Given the description of an element on the screen output the (x, y) to click on. 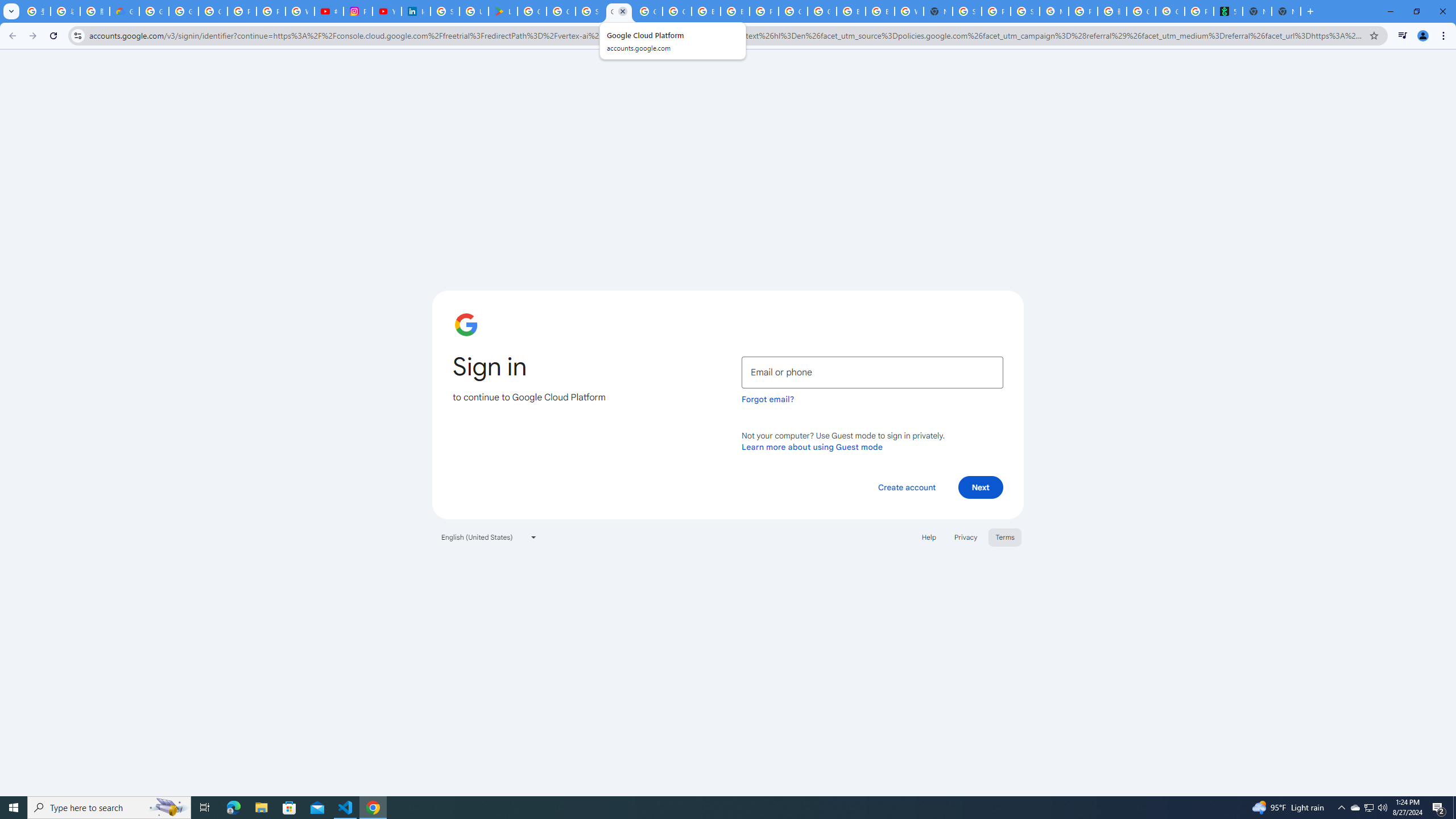
New Tab (1286, 11)
Privacy Help Center - Policies Help (271, 11)
Email or phone (872, 372)
Google Workspace - Specific Terms (560, 11)
